Given the description of an element on the screen output the (x, y) to click on. 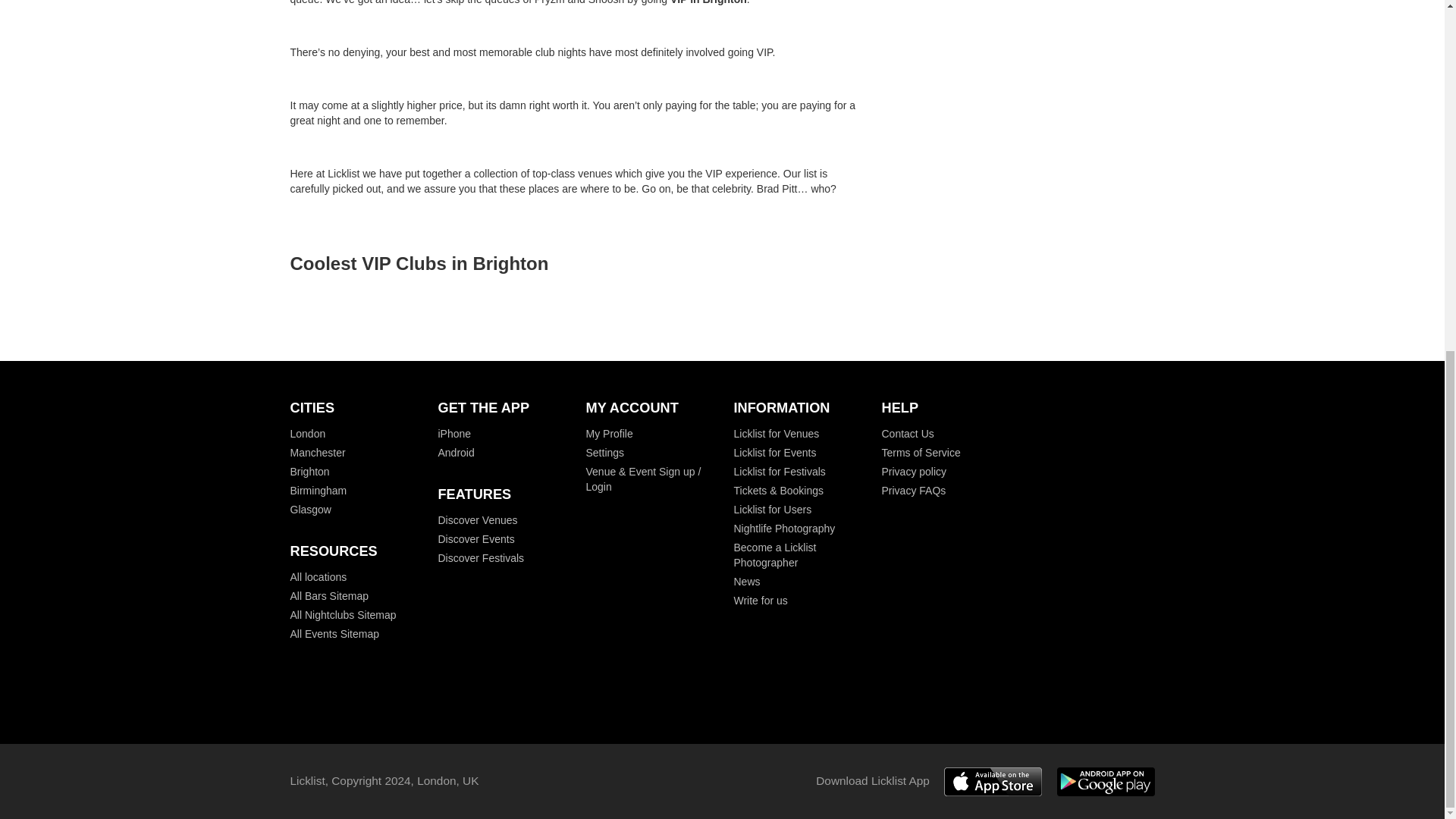
All Events Sitemap (333, 633)
Write for us (760, 600)
Manchester (317, 452)
All Bars Sitemap (328, 595)
Birmingham (317, 490)
Settings (604, 452)
Licklist for Venues (776, 433)
News (746, 581)
Become a Licklist Photographer (774, 554)
Licklist for Festivals (779, 471)
